Given the description of an element on the screen output the (x, y) to click on. 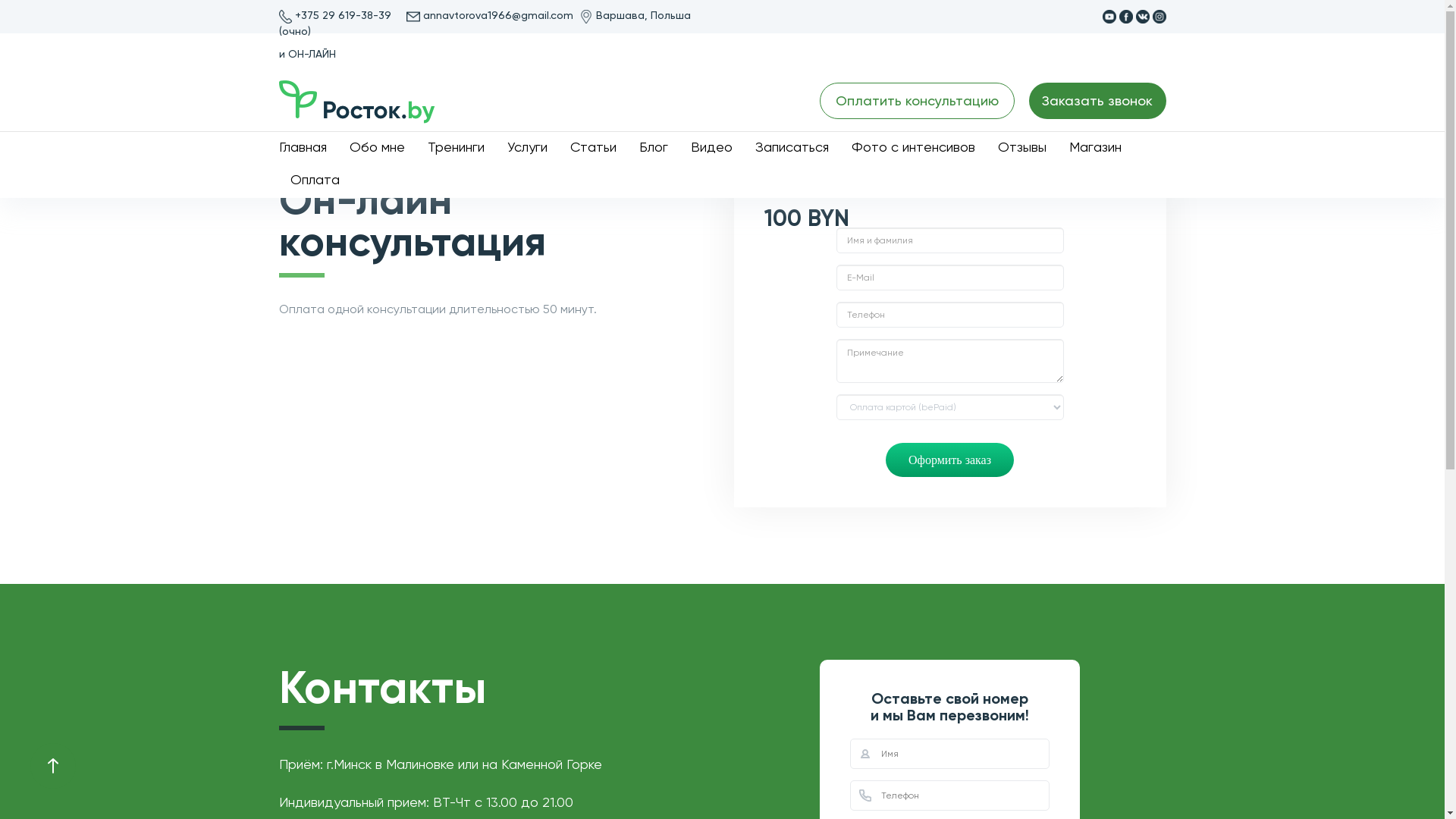
annavtorova1966@gmail.com Element type: text (498, 15)
  Element type: text (52, 765)
